Given the description of an element on the screen output the (x, y) to click on. 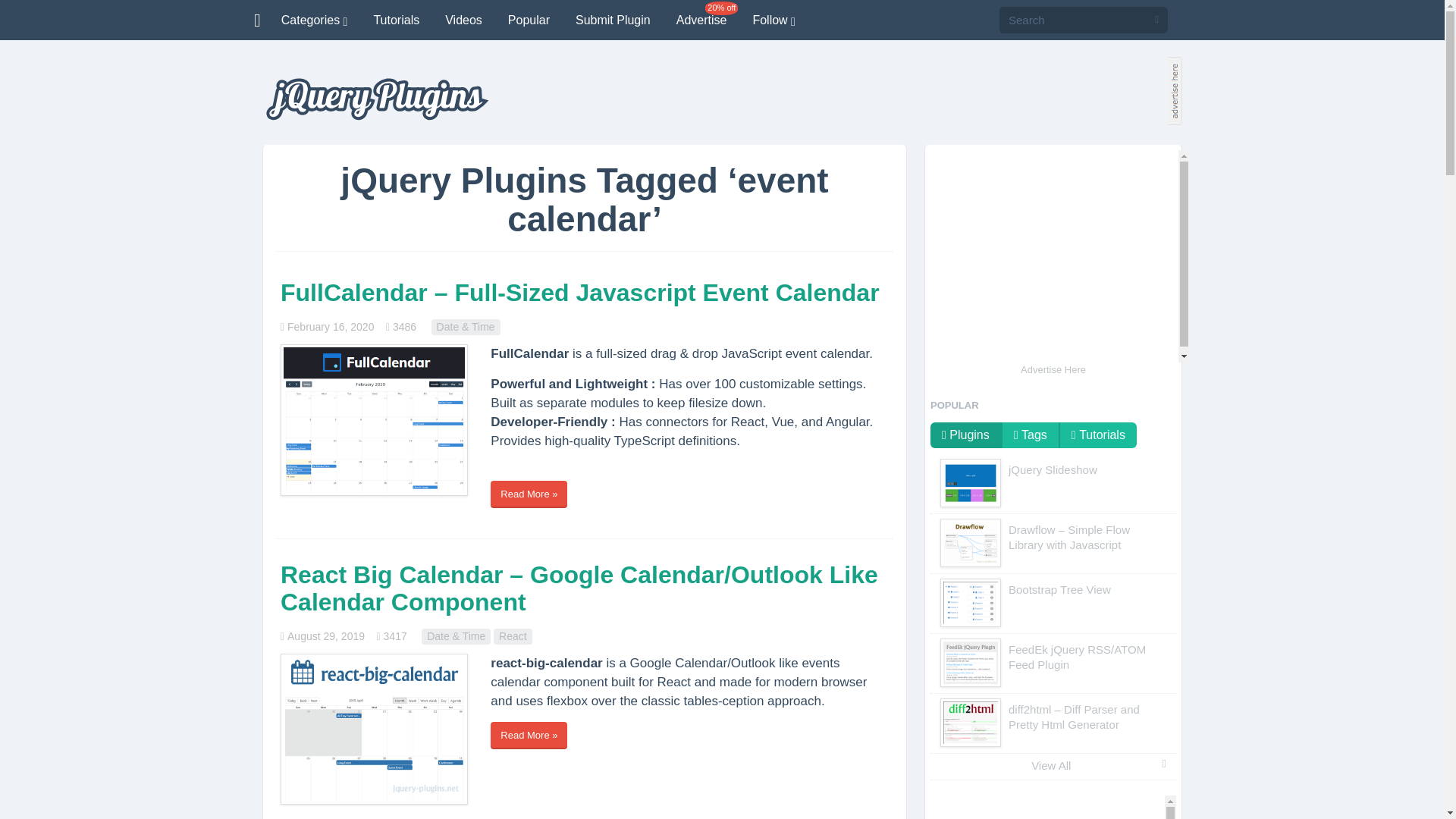
Popular (528, 20)
Tutorials (395, 20)
Submit Plugin (612, 20)
Videos (463, 20)
Categories (314, 20)
Advertisement (1053, 255)
